Given the description of an element on the screen output the (x, y) to click on. 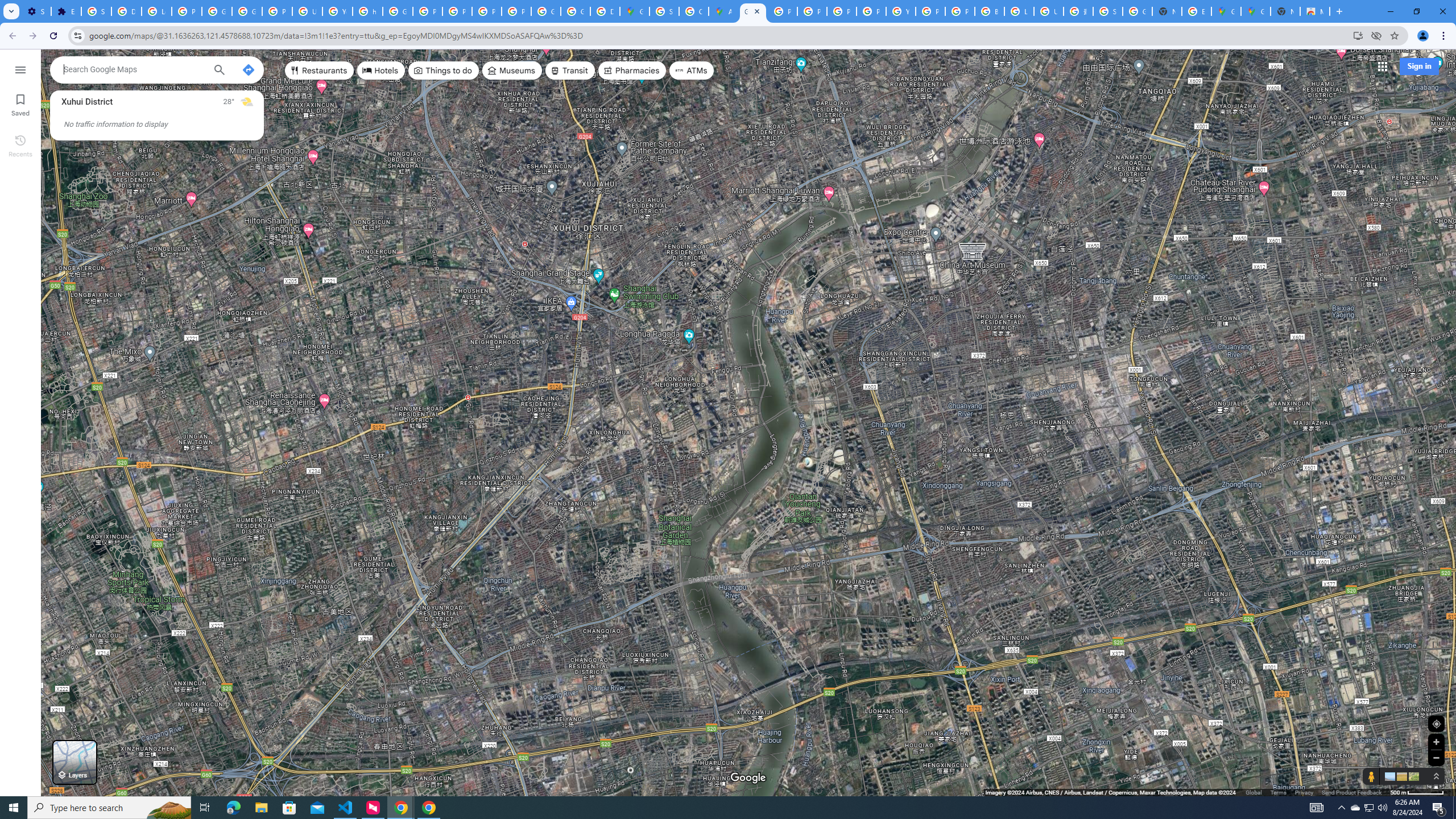
Transit (569, 70)
Google Maps (1226, 11)
Google Account Help (216, 11)
Hotels (381, 70)
Sign in - Google Accounts (95, 11)
Explore new street-level details - Google Maps Help (1196, 11)
500 m (1417, 792)
Show imagery (1412, 776)
